Given the description of an element on the screen output the (x, y) to click on. 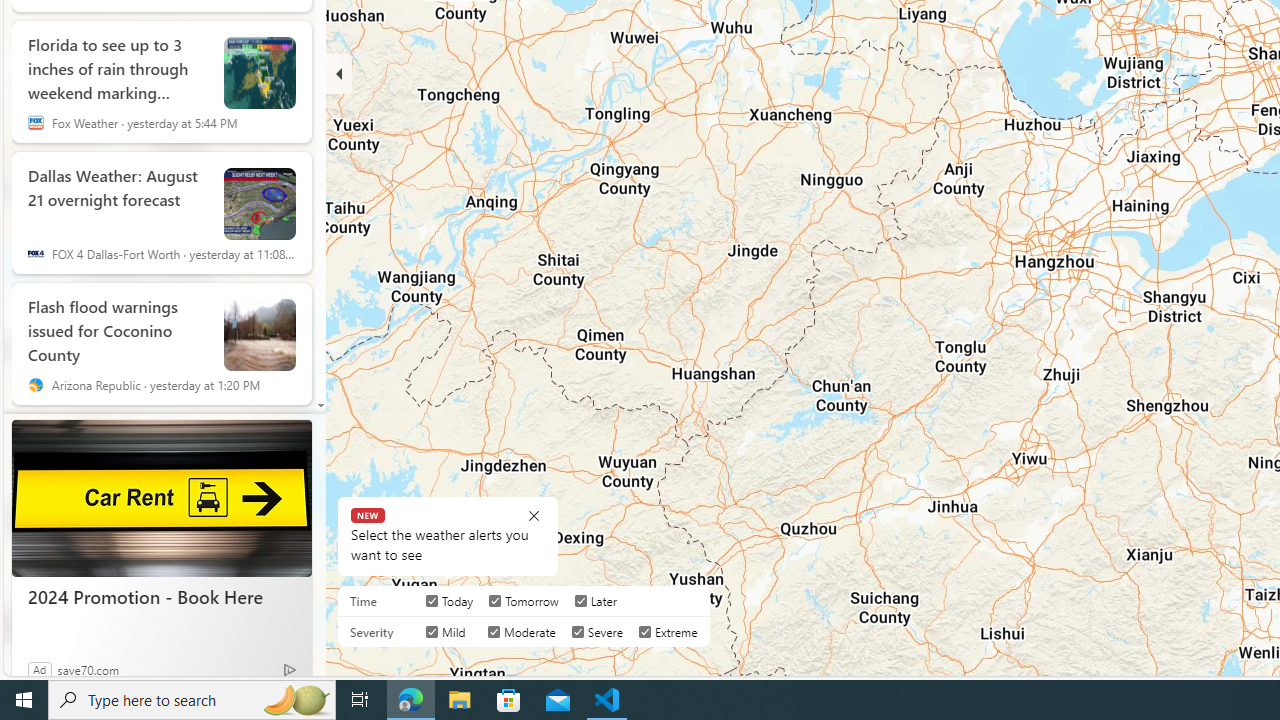
Arizona Republic (35, 385)
Flash flood warnings issued for Coconino County (259, 334)
Fox Weather (35, 123)
Class: BubbleMessageCloseIcon-DS-EntryPoint1-1 (534, 515)
FOX 4 Dallas-Fort Worth (35, 254)
